Given the description of an element on the screen output the (x, y) to click on. 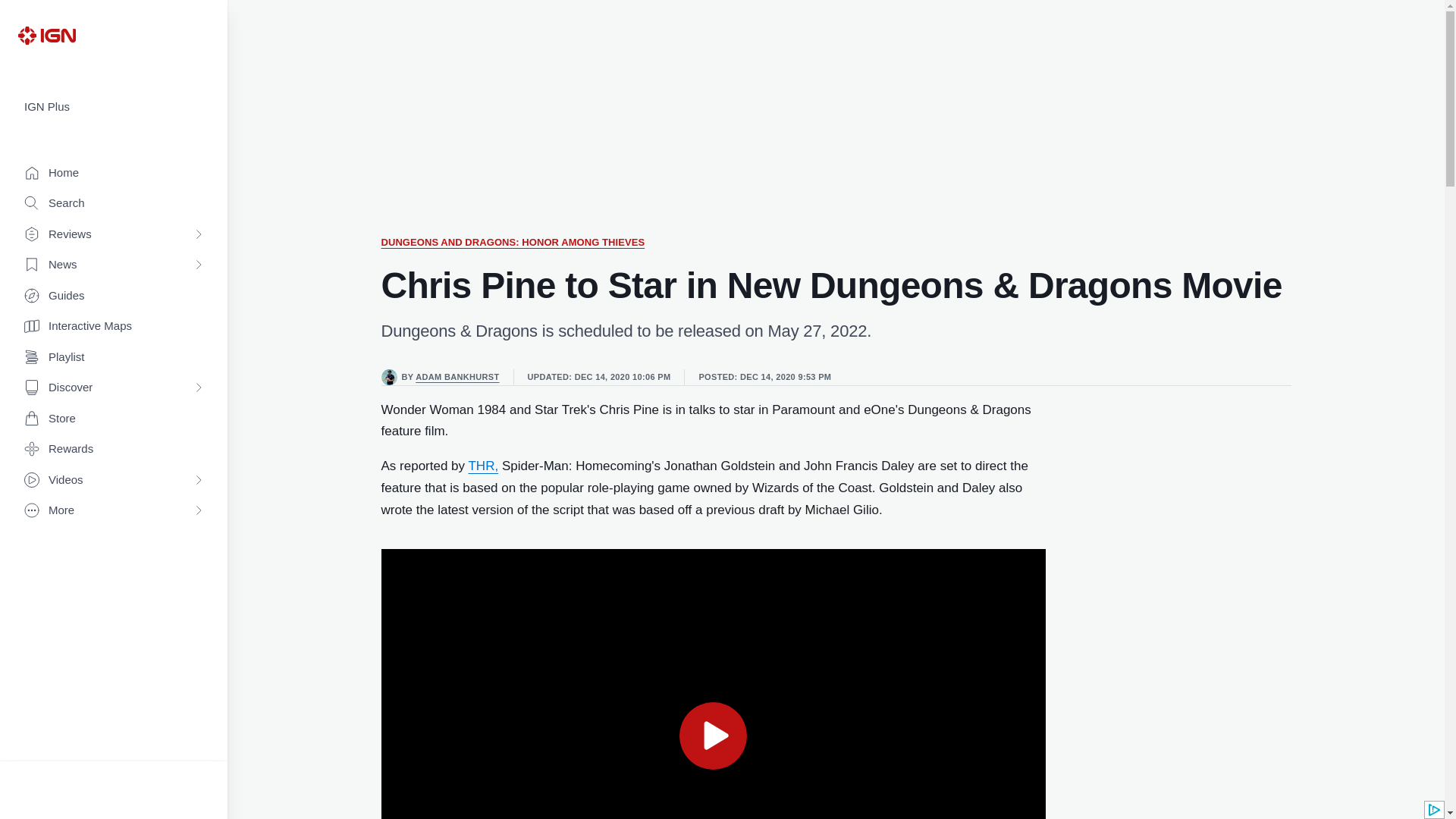
IGN Plus (113, 107)
Rewards (113, 449)
More (113, 510)
Videos (113, 480)
Videos (113, 480)
Playlist (113, 357)
Reviews (113, 234)
Discover (113, 387)
Store (113, 418)
News (113, 265)
